Given the description of an element on the screen output the (x, y) to click on. 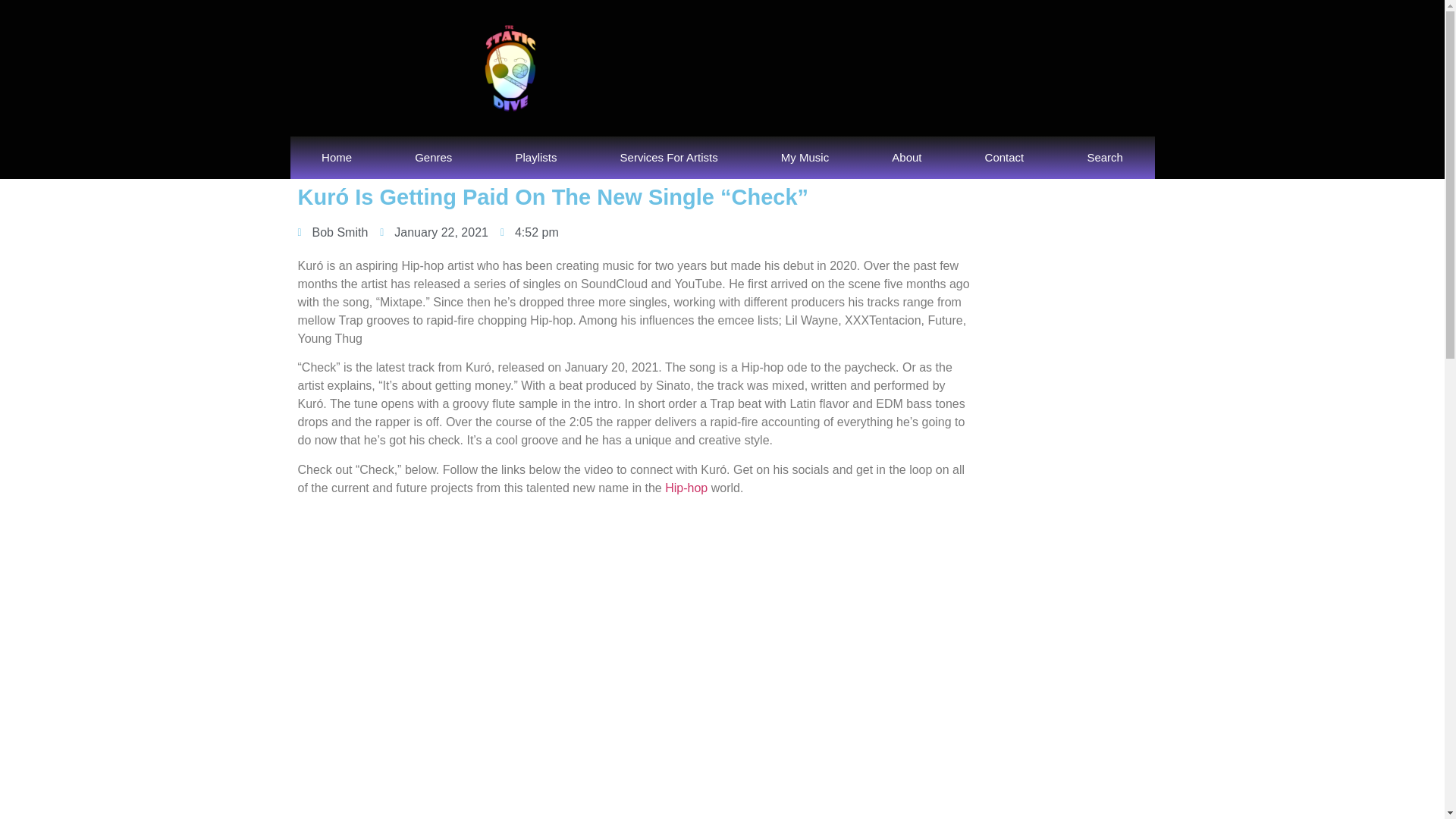
Playlists (535, 157)
Home (335, 157)
Bob Smith (332, 232)
Contact (1004, 157)
About (906, 157)
Genres (433, 157)
January 22, 2021 (433, 232)
Services For Artists (668, 157)
My Music (804, 157)
Search (1104, 157)
Hip-hop (686, 487)
